Given the description of an element on the screen output the (x, y) to click on. 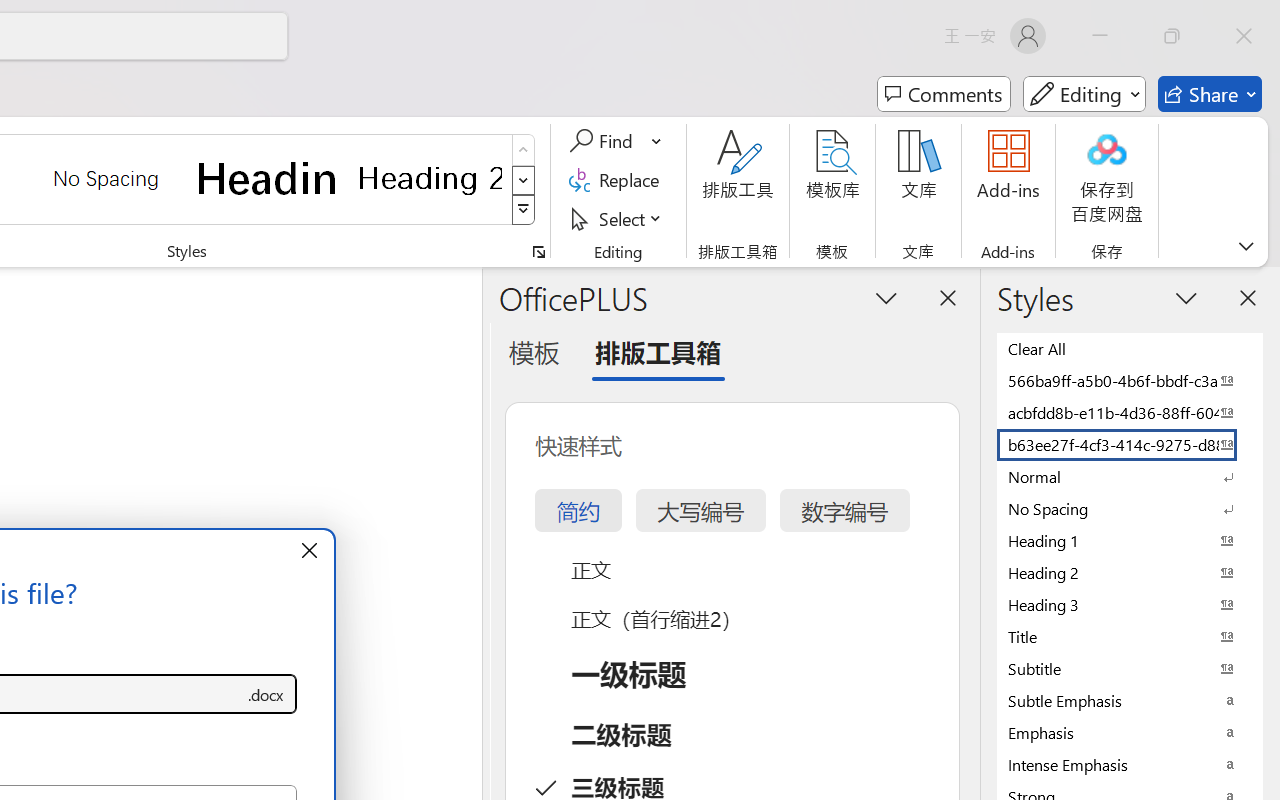
Row Down (523, 180)
Ribbon Display Options (1246, 245)
566ba9ff-a5b0-4b6f-bbdf-c3ab41993fc2 (1130, 380)
Intense Emphasis (1130, 764)
acbfdd8b-e11b-4d36-88ff-6049b138f862 (1130, 412)
Mode (1083, 94)
Heading 3 (1130, 604)
